Given the description of an element on the screen output the (x, y) to click on. 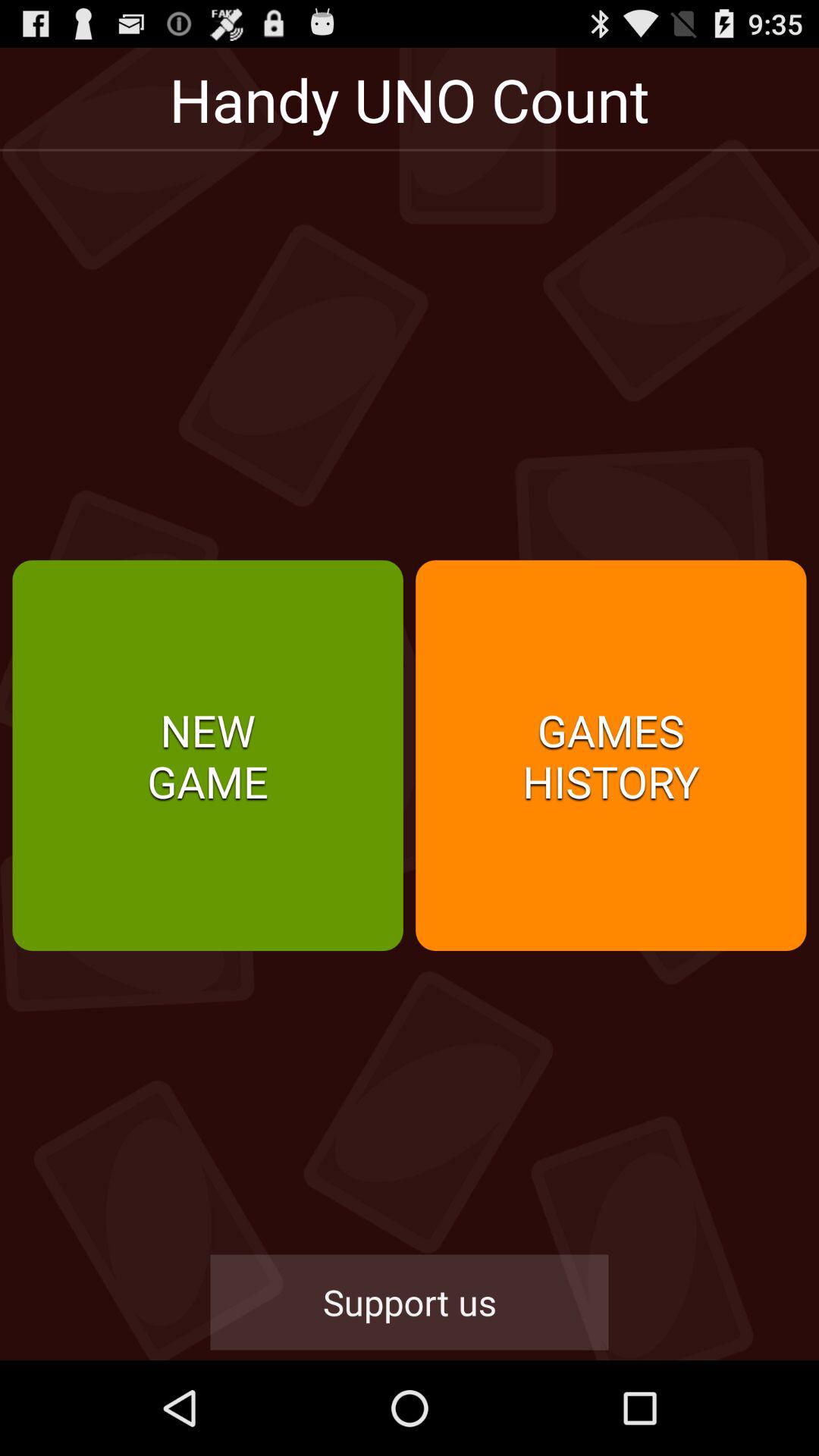
turn on the app below new
game (409, 1302)
